Given the description of an element on the screen output the (x, y) to click on. 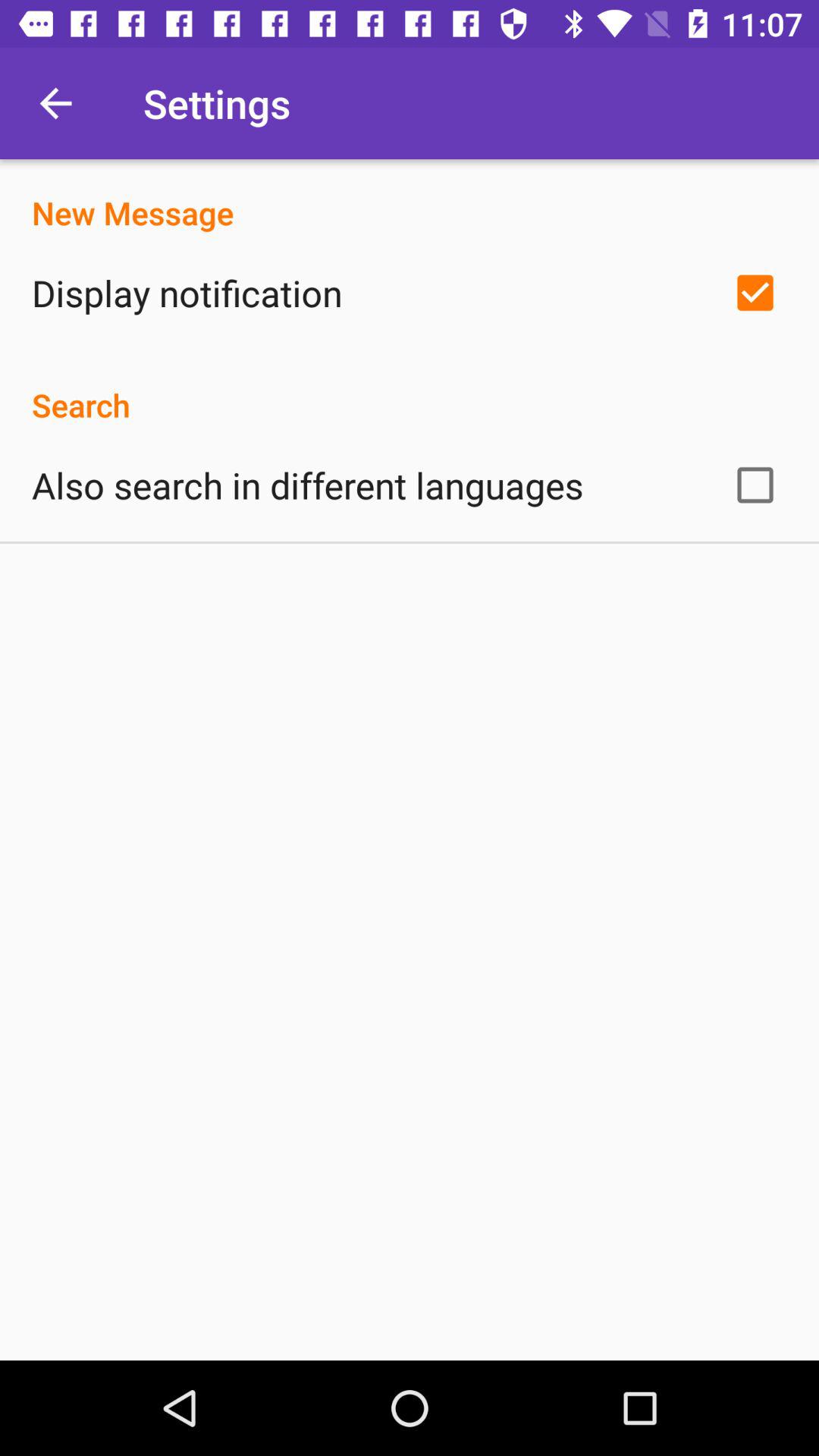
turn on icon above the search icon (186, 292)
